Given the description of an element on the screen output the (x, y) to click on. 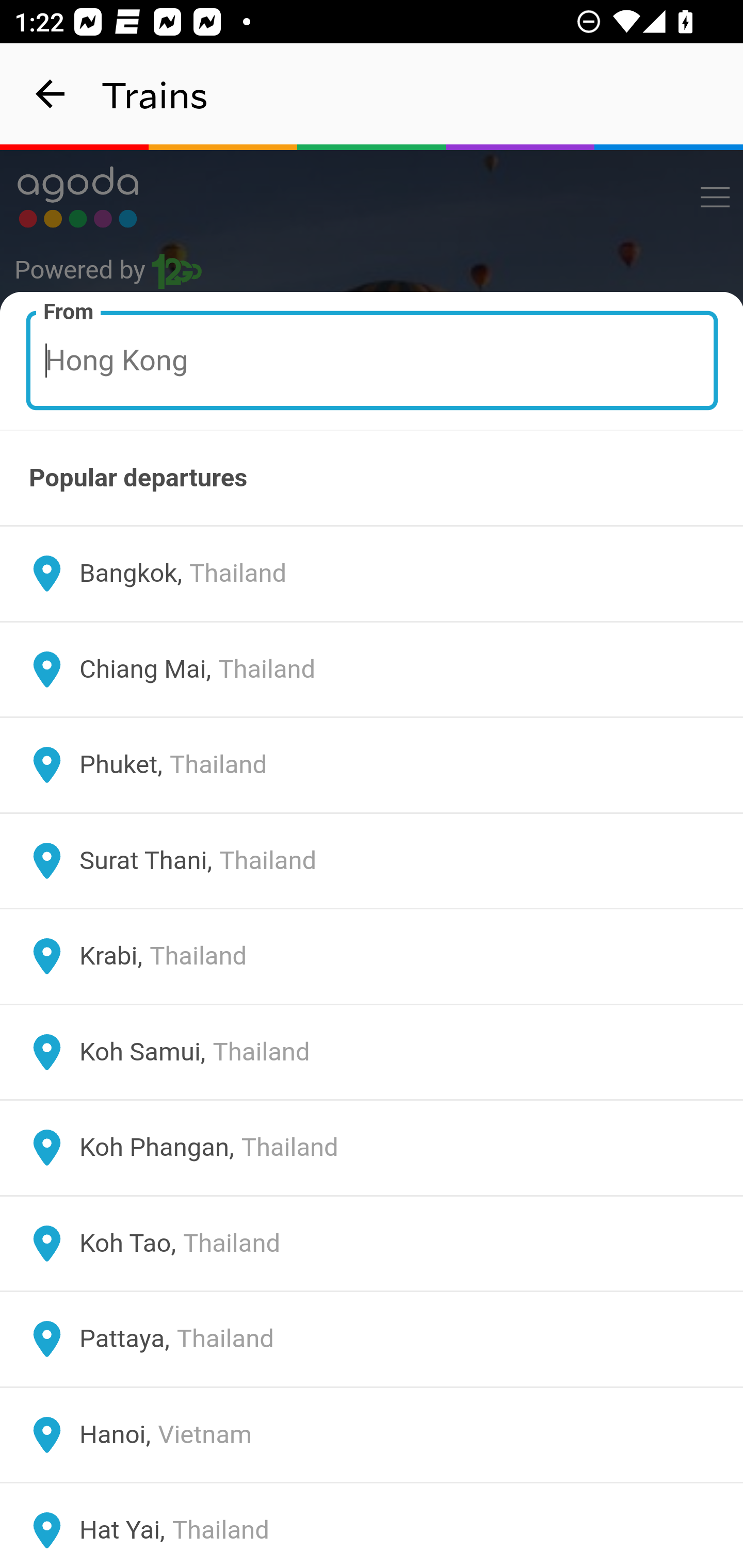
navigation_button (50, 93)
Popular departures (371, 477)
Bangkok,Thailand (371, 573)
Chiang Mai,Thailand (371, 669)
Phuket,Thailand (371, 764)
Surat Thani,Thailand (371, 860)
Krabi,Thailand (371, 956)
Koh Samui,Thailand (371, 1051)
Koh Phangan,Thailand (371, 1147)
Koh Tao,Thailand (371, 1243)
Pattaya,Thailand (371, 1339)
Hanoi,Vietnam (371, 1434)
Hat Yai,Thailand (371, 1524)
